Given the description of an element on the screen output the (x, y) to click on. 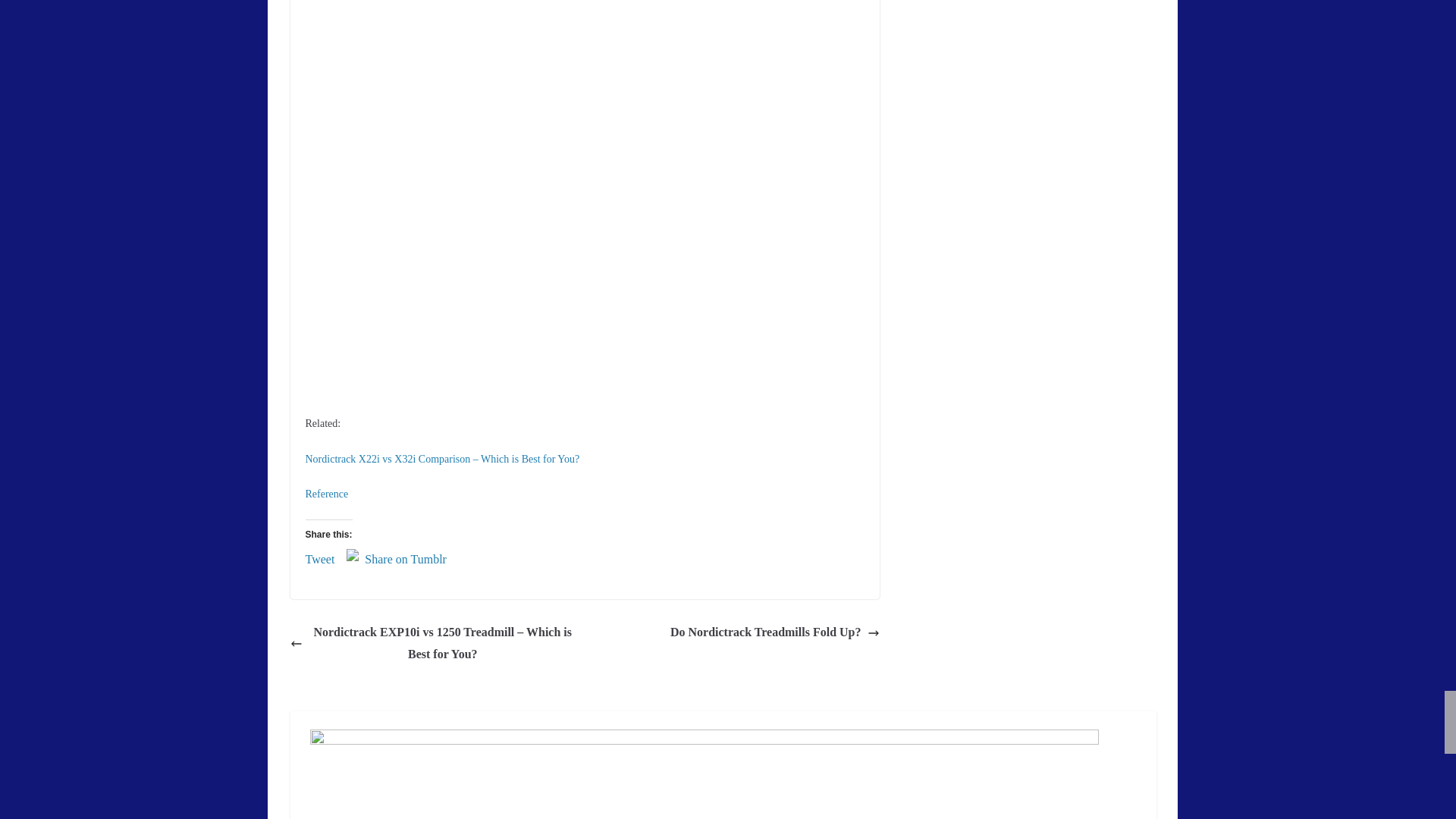
Share on Tumblr (405, 555)
